Given the description of an element on the screen output the (x, y) to click on. 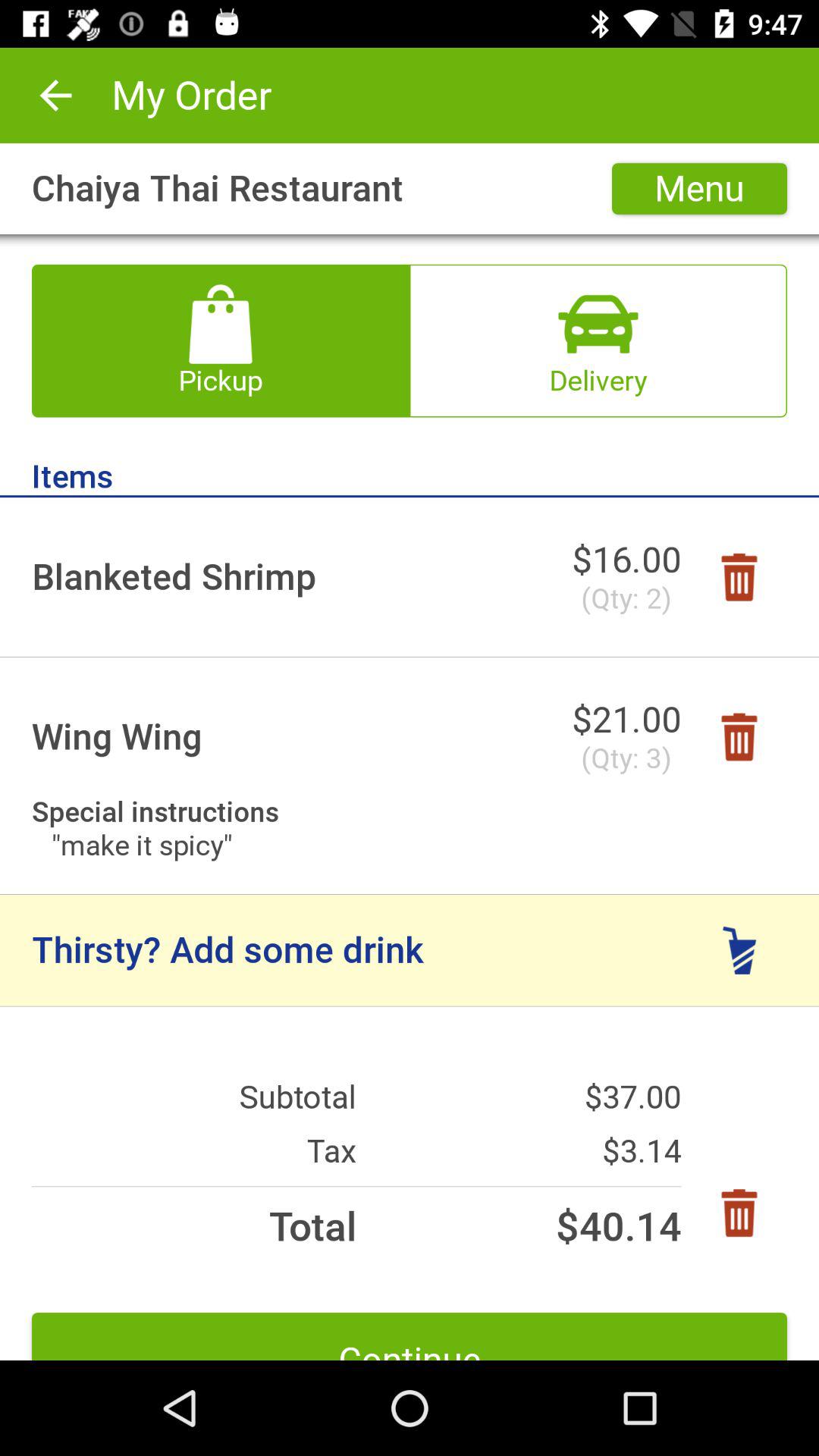
press the item next to chaiya thai restaurant icon (699, 188)
